Given the description of an element on the screen output the (x, y) to click on. 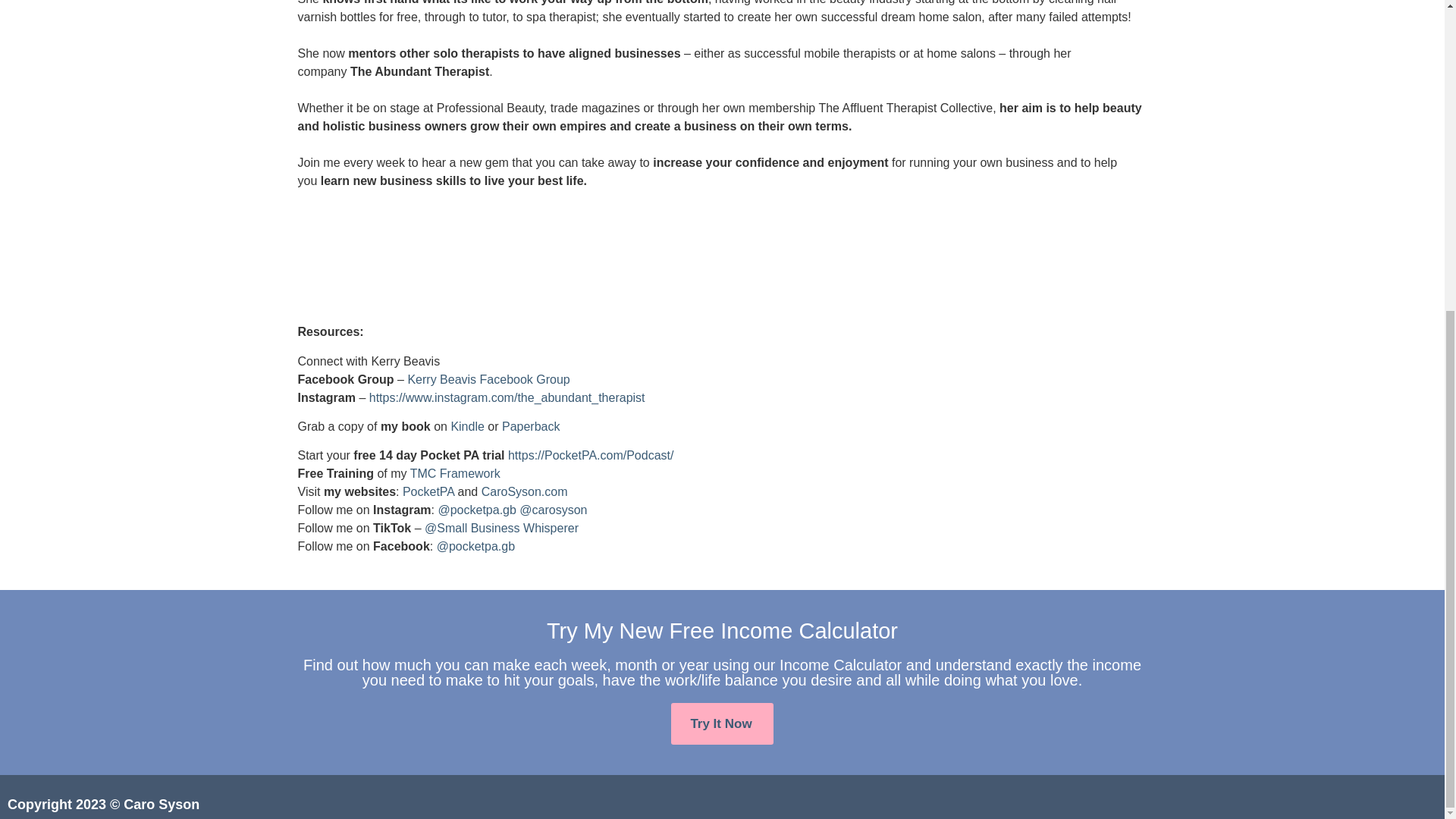
Paperback (531, 426)
Kindle (466, 426)
Try It Now (722, 723)
CaroSyson.com (524, 491)
Audioboom player (722, 256)
Kerry Beavis Facebook Group (488, 379)
TMC Framework (455, 472)
PocketPA (428, 491)
